Given the description of an element on the screen output the (x, y) to click on. 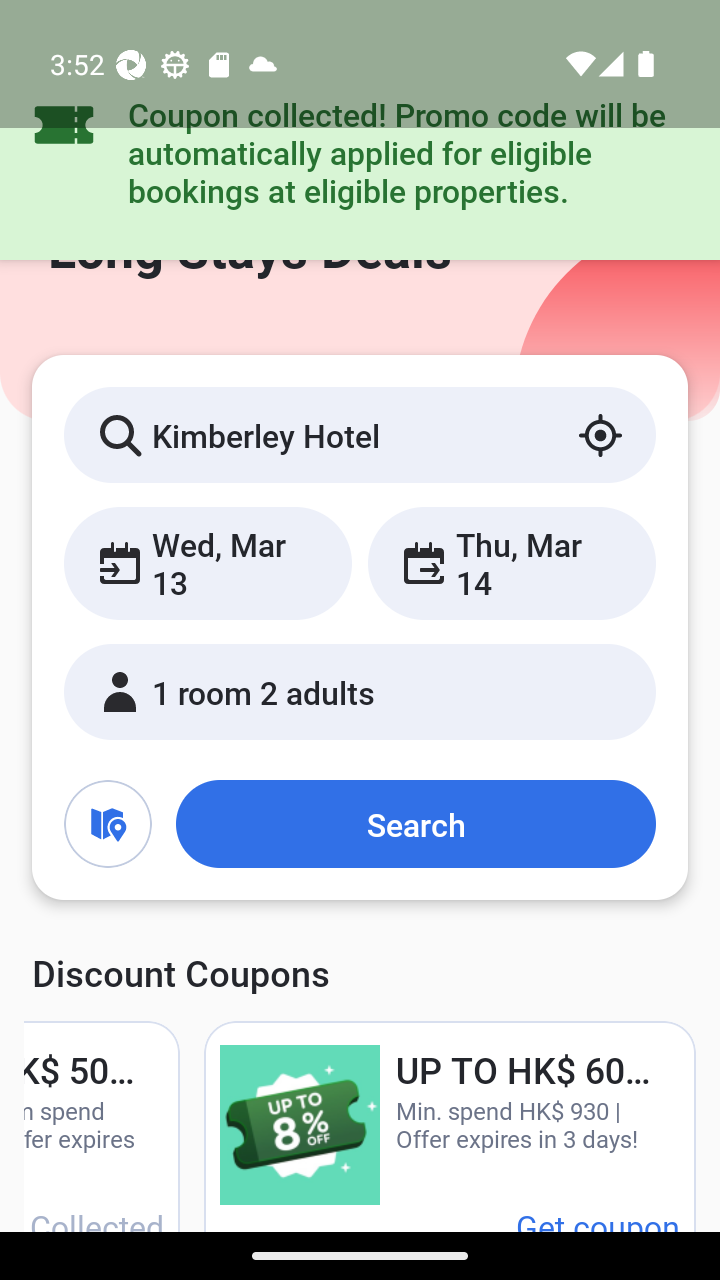
Kimberley Hotel (359, 434)
Wed, Mar 13 (208, 562)
Thu, Mar 14 (511, 562)
1 room 2 adults (359, 691)
Search (415, 823)
